Given the description of an element on the screen output the (x, y) to click on. 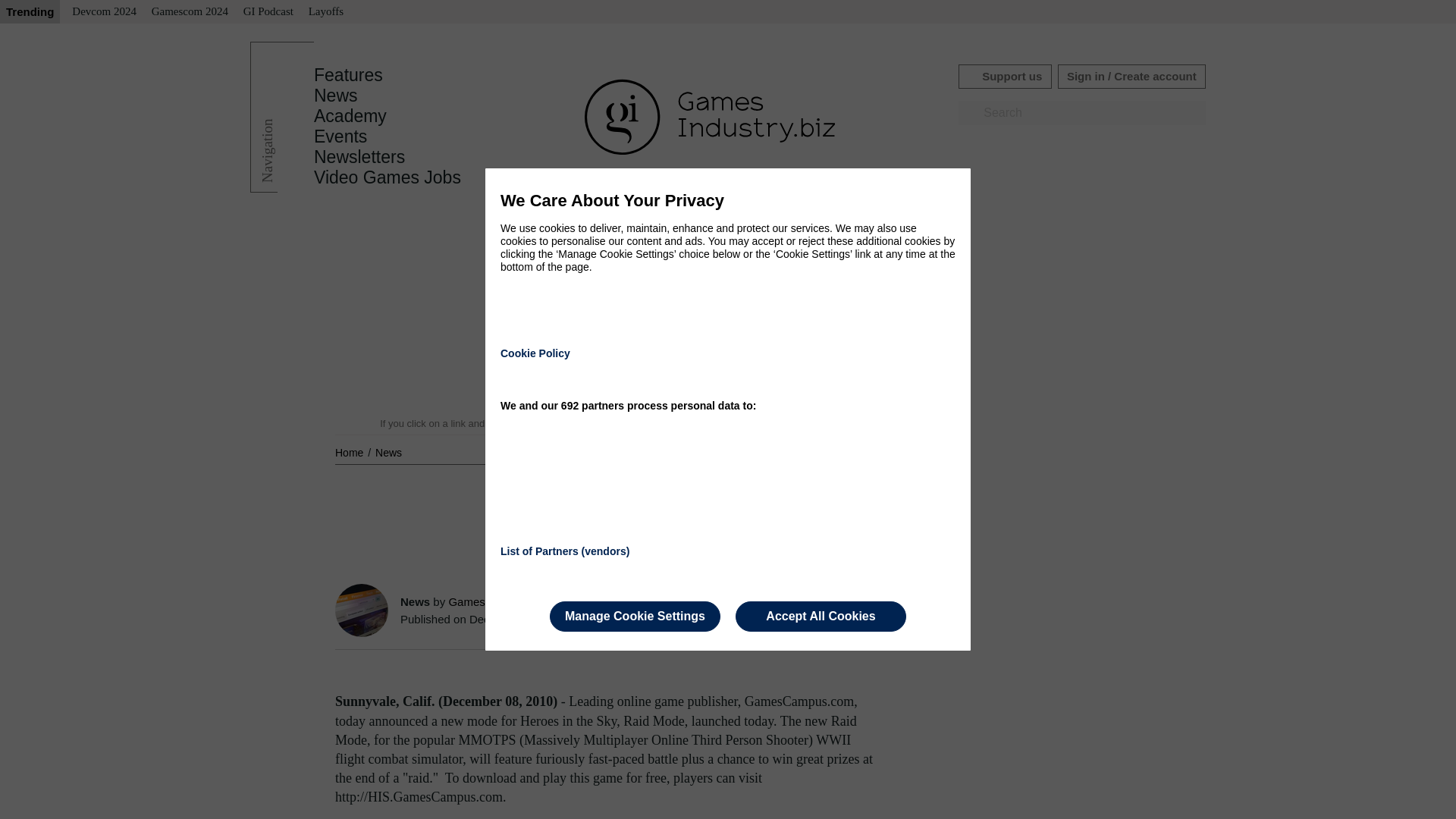
Video Games Jobs (387, 177)
Gamescom 2024 (189, 11)
Devcom 2024 (103, 11)
Layoffs (325, 11)
Features (348, 75)
GI Podcast (268, 11)
GI Podcast (268, 11)
Newsletters (359, 157)
Layoffs (325, 11)
News (388, 452)
